Given the description of an element on the screen output the (x, y) to click on. 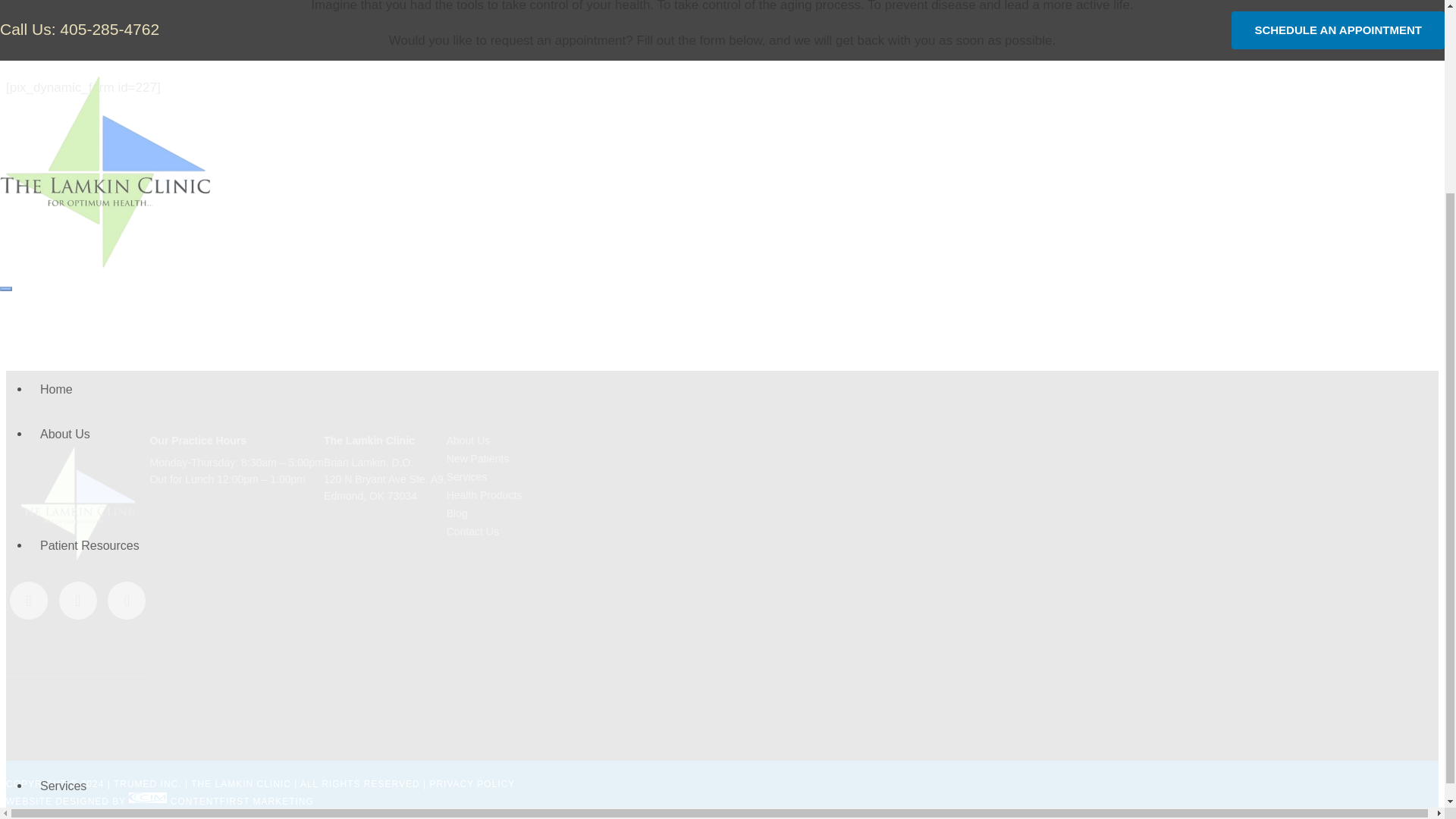
Services (63, 536)
About Us (65, 184)
Contact Us (70, 692)
Home (56, 139)
Submit (1240, 505)
1 (1084, 409)
Blog (456, 512)
Submit (1240, 505)
New Patients (477, 458)
Home (56, 139)
